Given the description of an element on the screen output the (x, y) to click on. 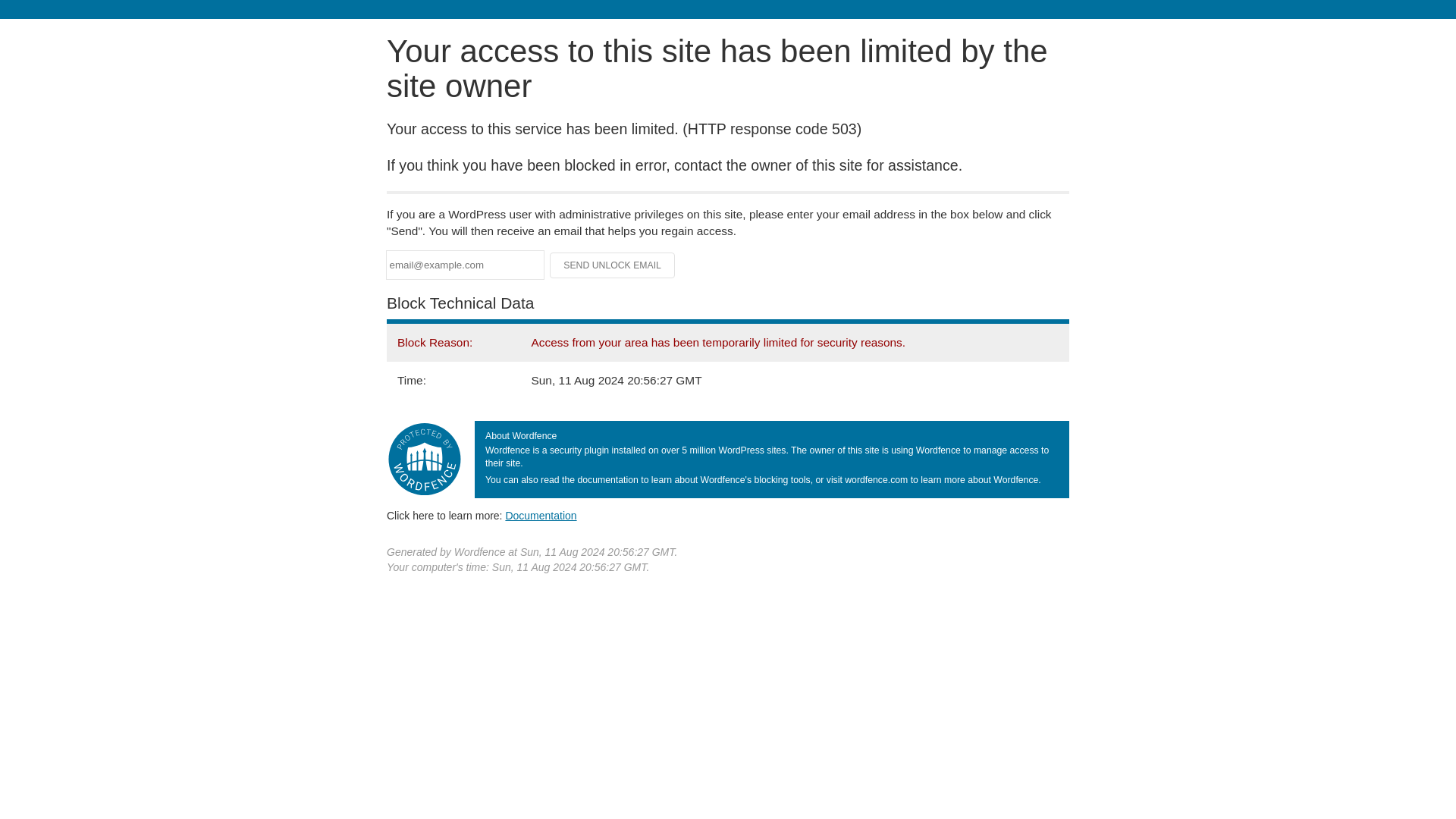
Send Unlock Email (612, 265)
Documentation (540, 515)
Send Unlock Email (612, 265)
